Given the description of an element on the screen output the (x, y) to click on. 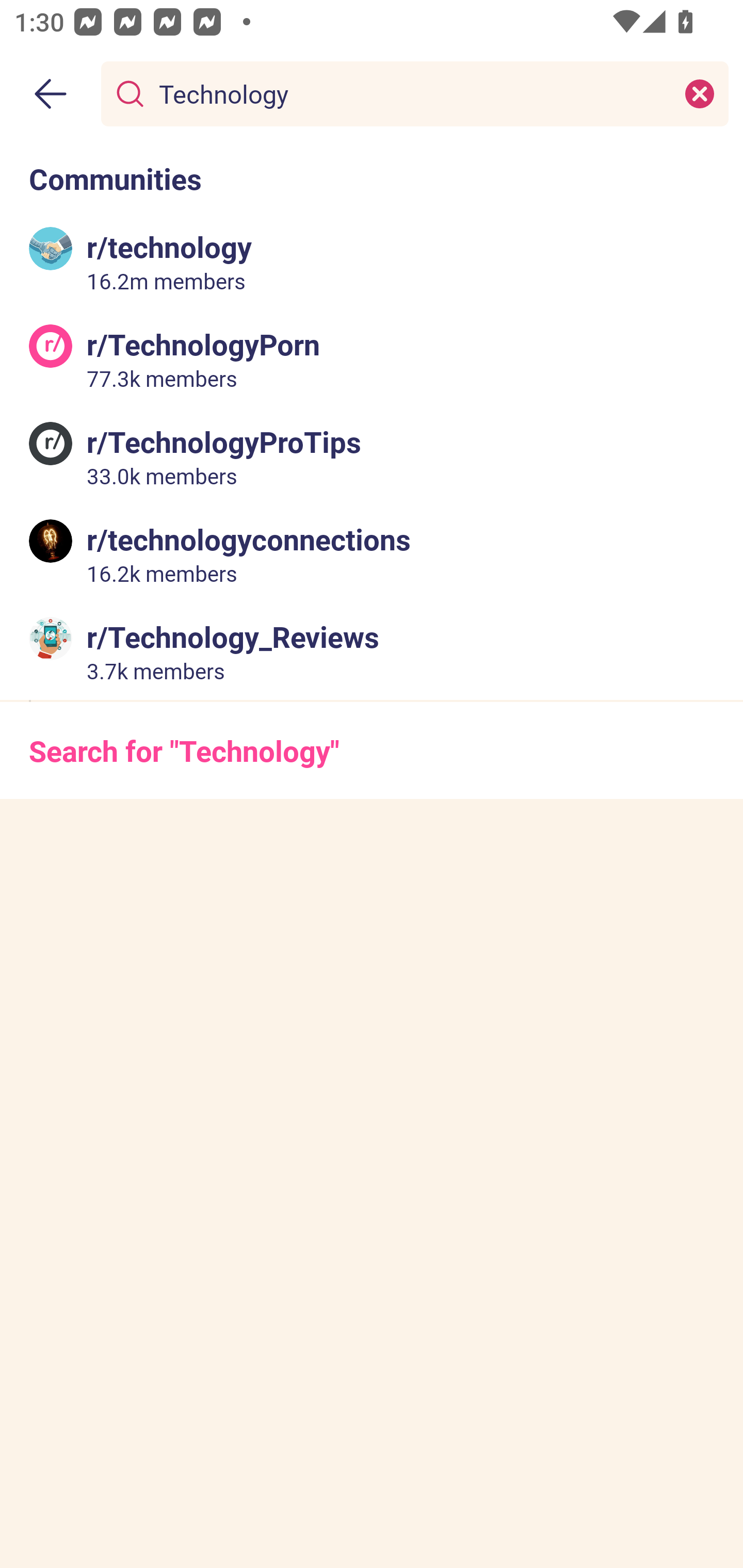
Back (50, 93)
Technology (410, 93)
Clear search (699, 93)
r/technology 16.2m members 16.2 million members (371, 261)
Search for "Technology" (371, 750)
